Given the description of an element on the screen output the (x, y) to click on. 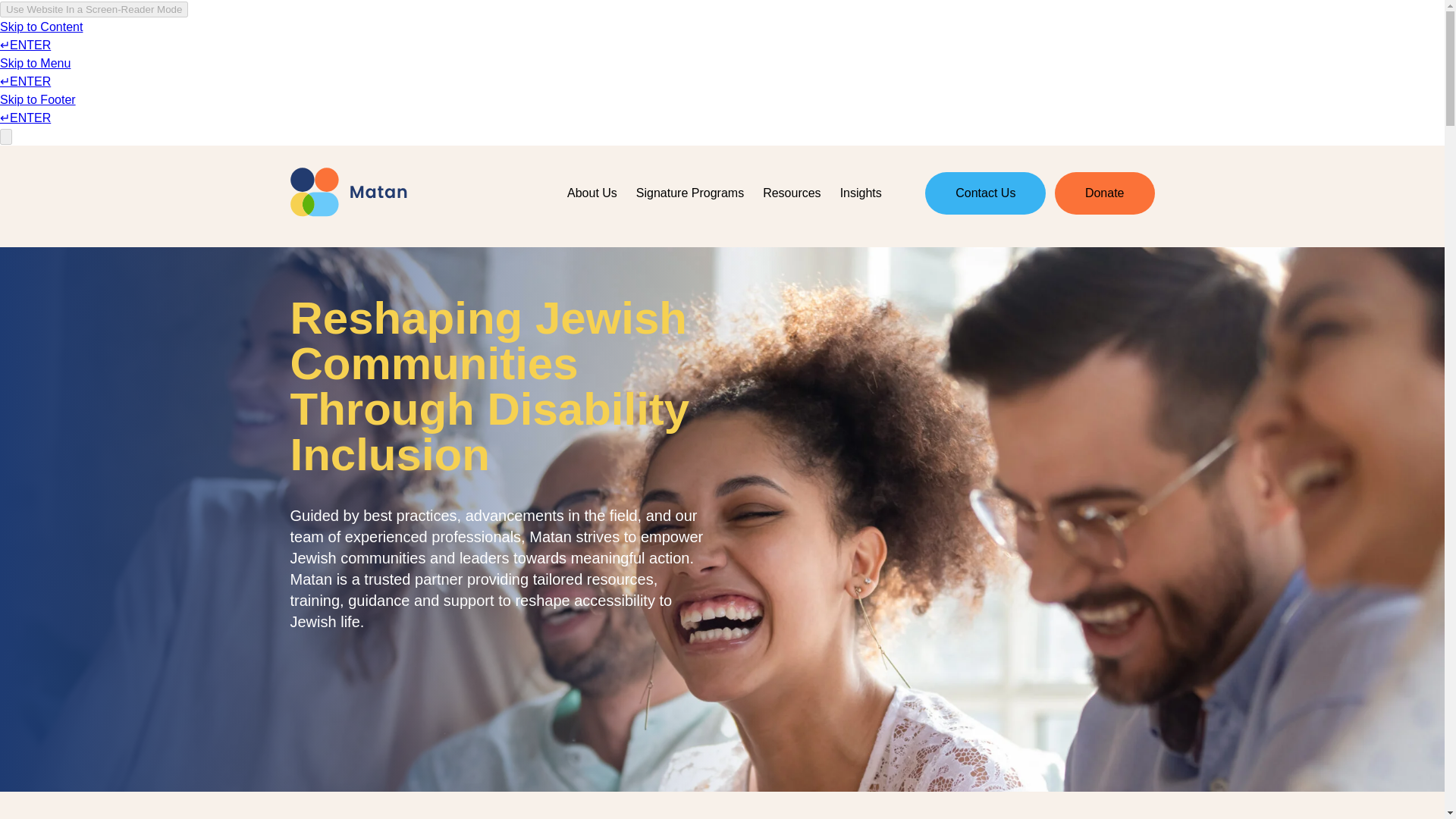
Insights (860, 193)
Signature Programs (689, 193)
Contact Us (984, 192)
Donate (1104, 192)
Matan (347, 192)
Resources (791, 193)
About Us (592, 193)
